Given the description of an element on the screen output the (x, y) to click on. 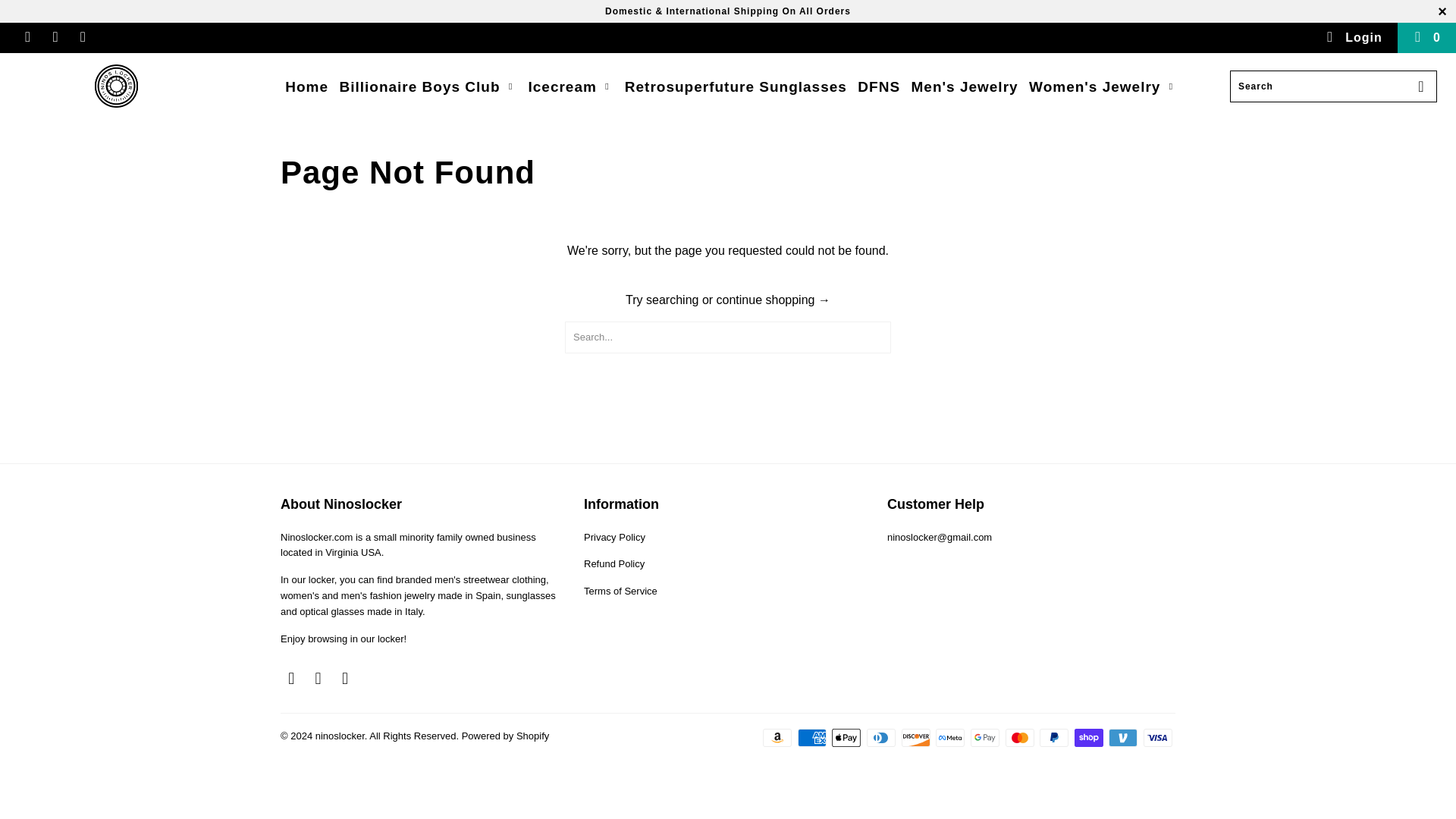
Email ninoslocker (345, 678)
ninoslocker on Instagram (318, 678)
ninoslocker on Facebook (26, 37)
Email ninoslocker (82, 37)
ninoslocker on Instagram (54, 37)
ninoslocker (116, 87)
My Account  (1353, 37)
ninoslocker on Facebook (291, 678)
